Given the description of an element on the screen output the (x, y) to click on. 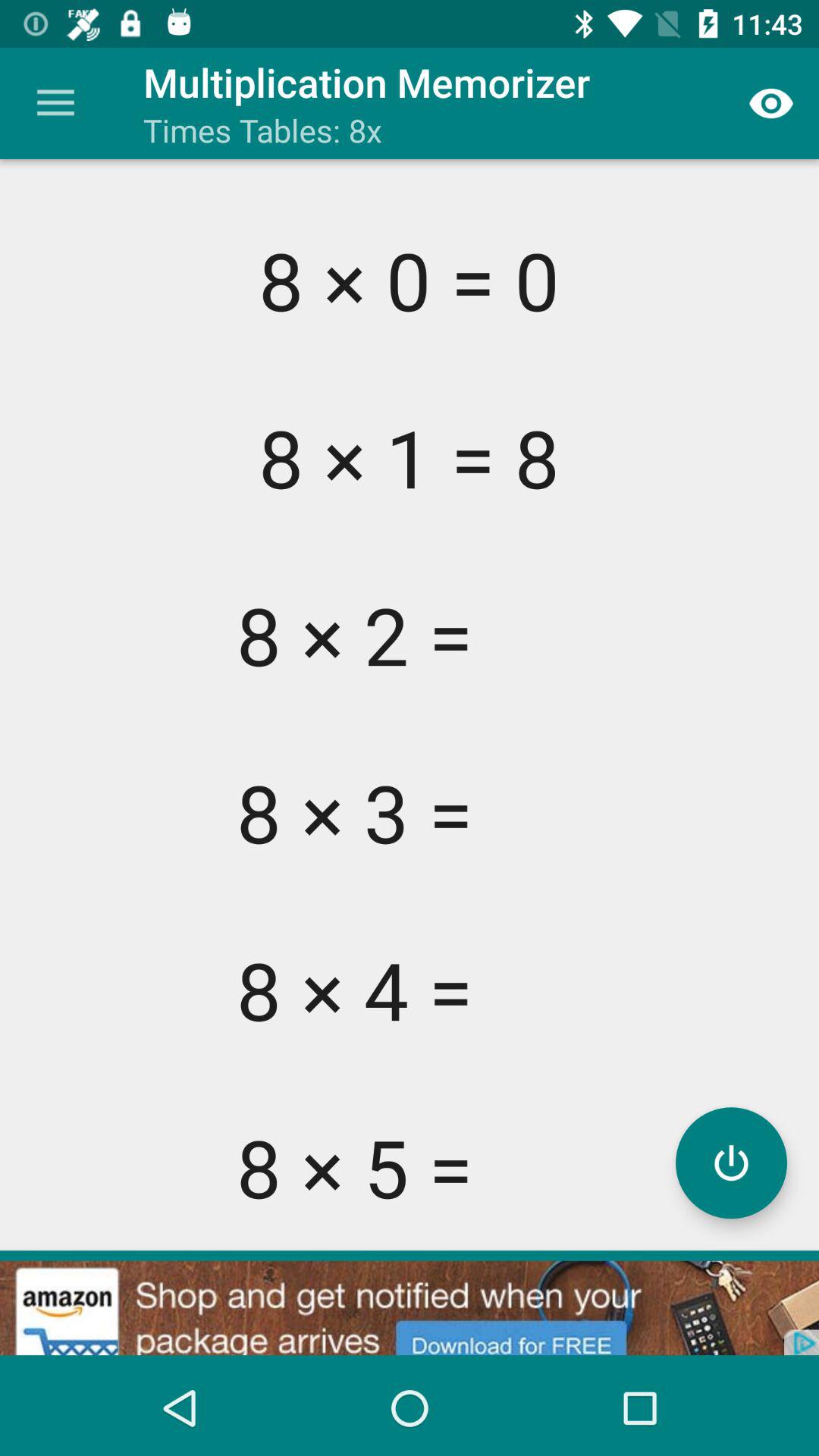
switch off (731, 1162)
